Given the description of an element on the screen output the (x, y) to click on. 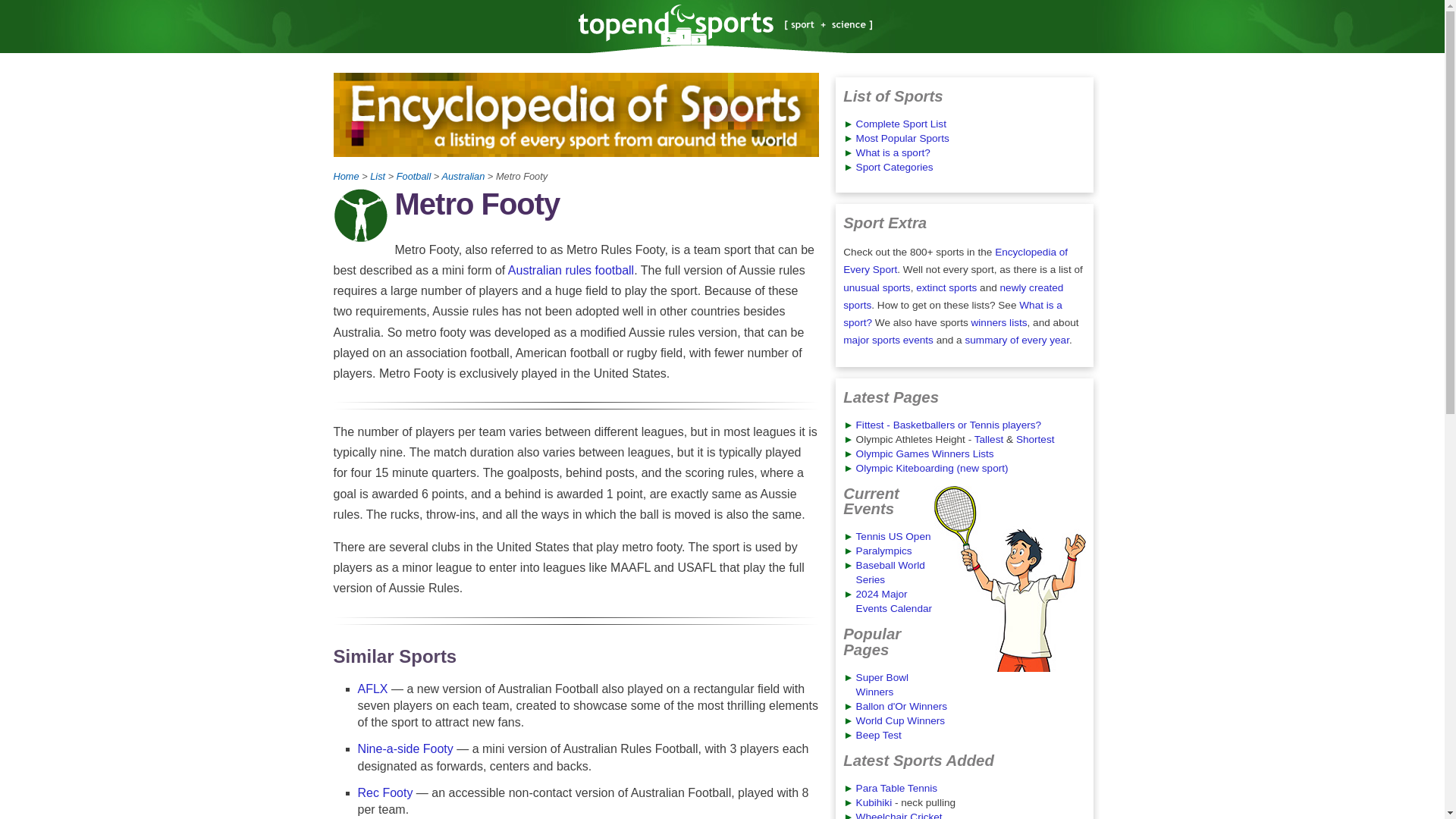
Sport Categories (894, 166)
AFLX (373, 688)
Australian (462, 175)
summary of every year (1015, 339)
Encyclopedia of Every Sport (955, 260)
Rec Footy (385, 792)
Nine-a-side Footy (407, 748)
unusual sports (876, 287)
extinct sports (945, 287)
Football (413, 175)
